Given the description of an element on the screen output the (x, y) to click on. 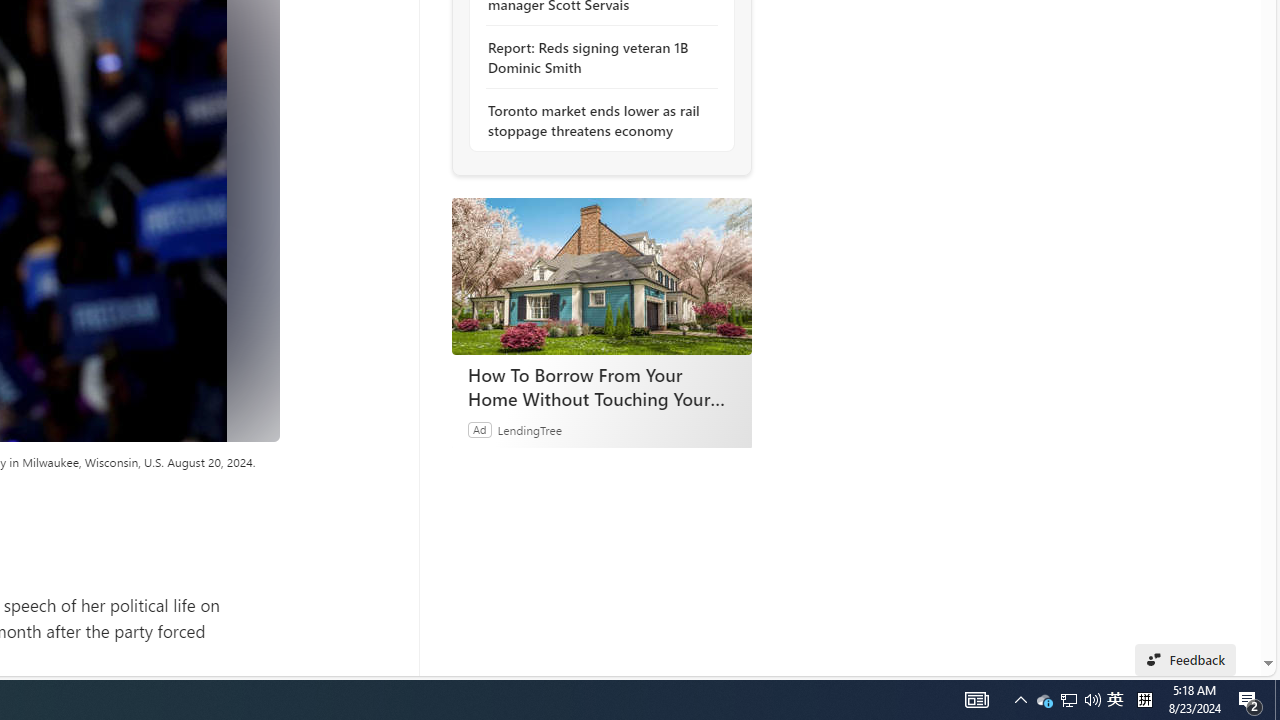
User Promoted Notification Area (1044, 699)
Show desktop (1068, 699)
